Given the description of an element on the screen output the (x, y) to click on. 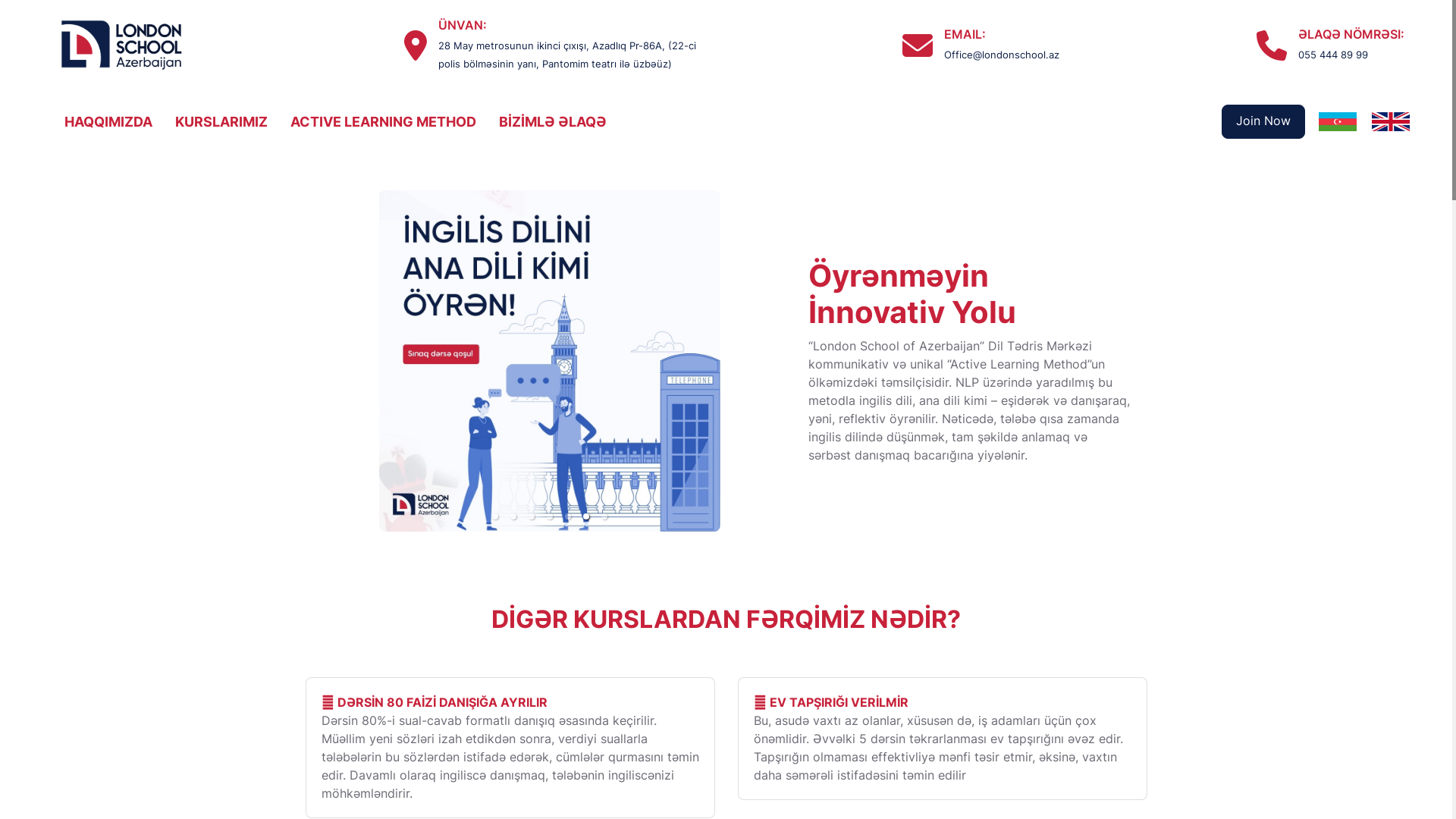
Office@londonschool.az Element type: text (1001, 53)
055 444 89 99 Element type: text (1333, 53)
ACTIVE LEARNING METHOD Element type: text (383, 121)
Join Now Element type: text (1263, 121)
KURSLARIMIZ Element type: text (221, 121)
HAQQIMIZDA Element type: text (108, 121)
